Given the description of an element on the screen output the (x, y) to click on. 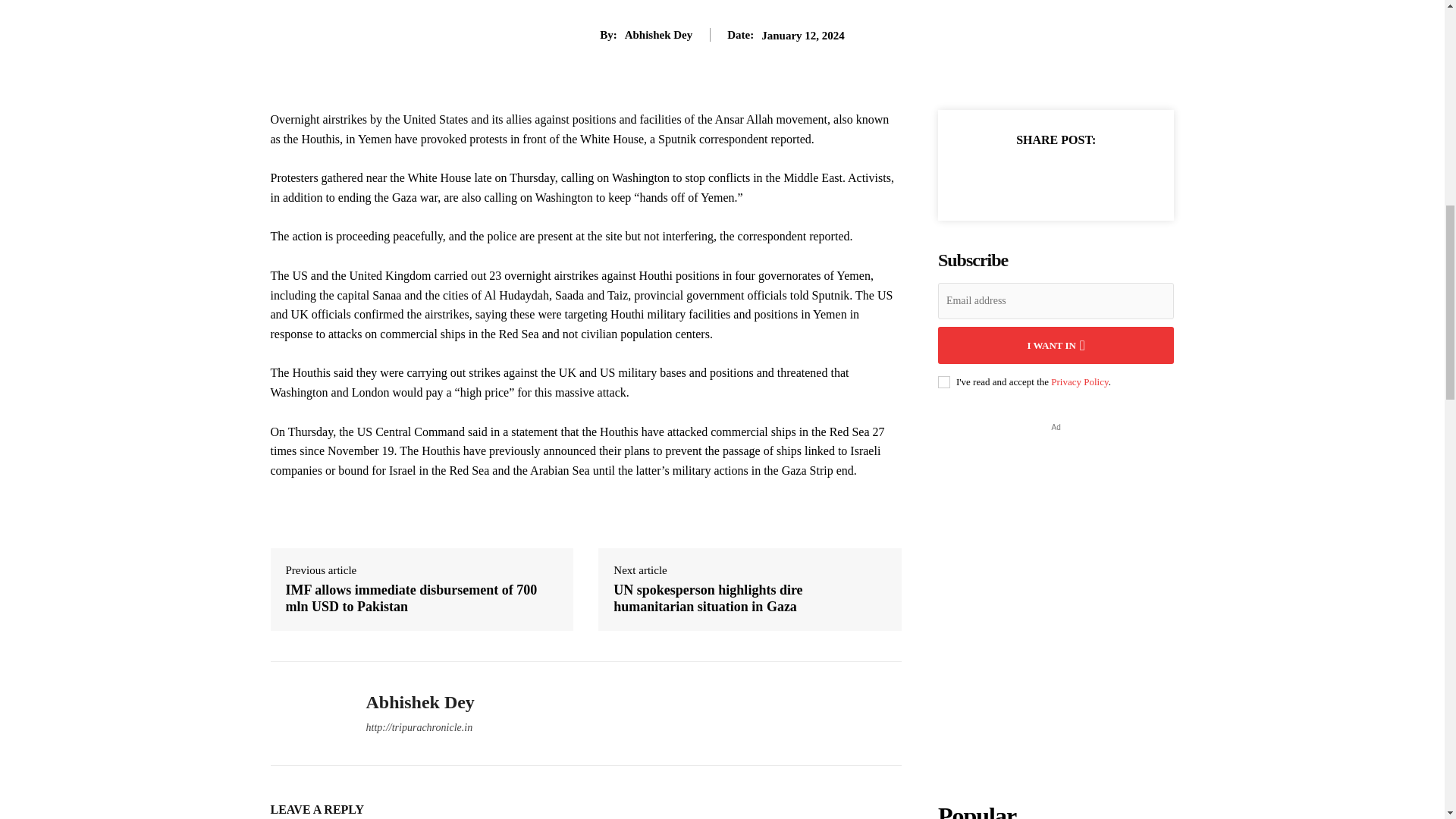
Abhishek Dey (305, 713)
